Given the description of an element on the screen output the (x, y) to click on. 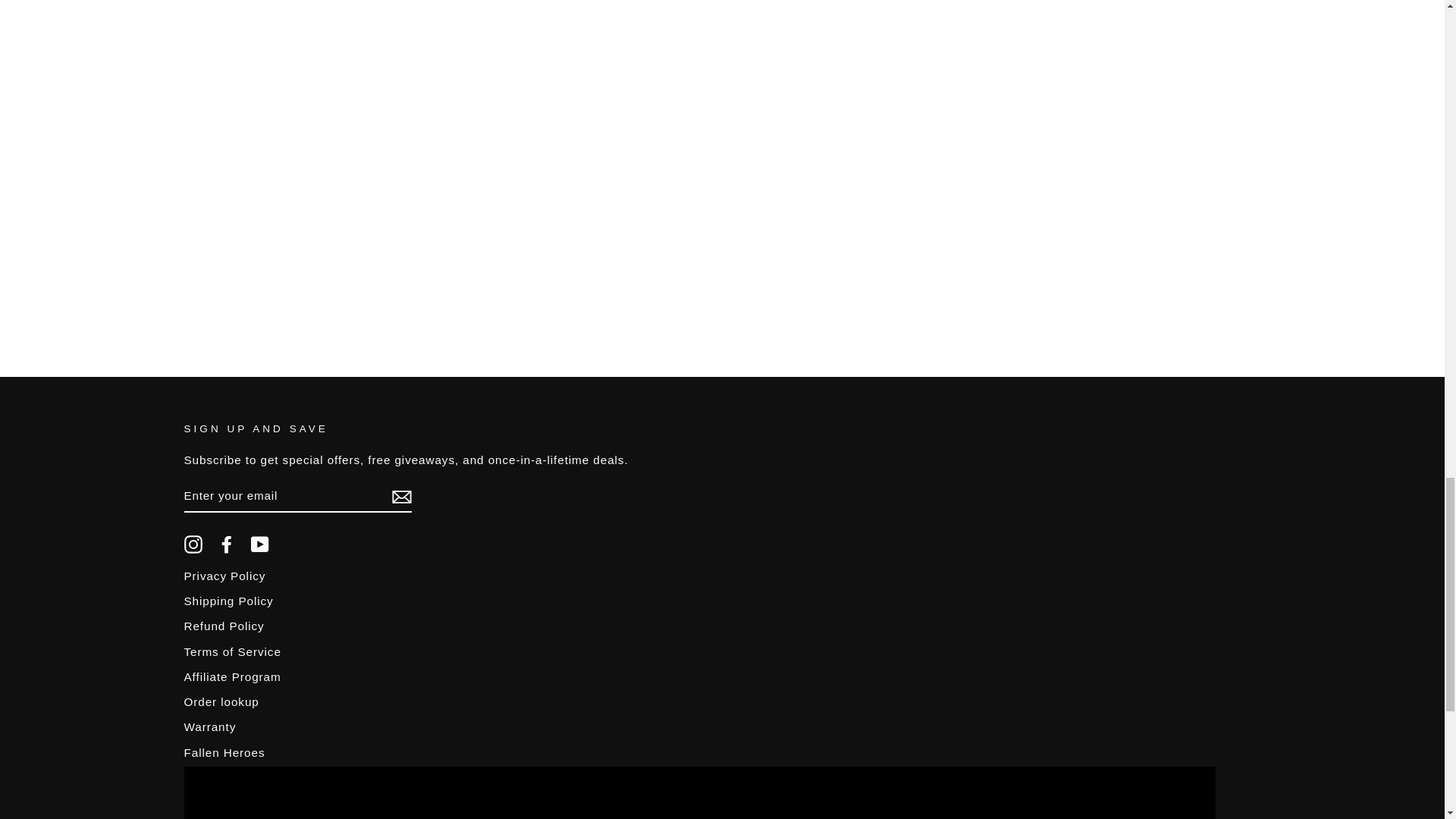
Iron Infidel on Instagram (192, 544)
Iron Infidel on YouTube (259, 544)
Iron Infidel on Facebook (225, 544)
